Given the description of an element on the screen output the (x, y) to click on. 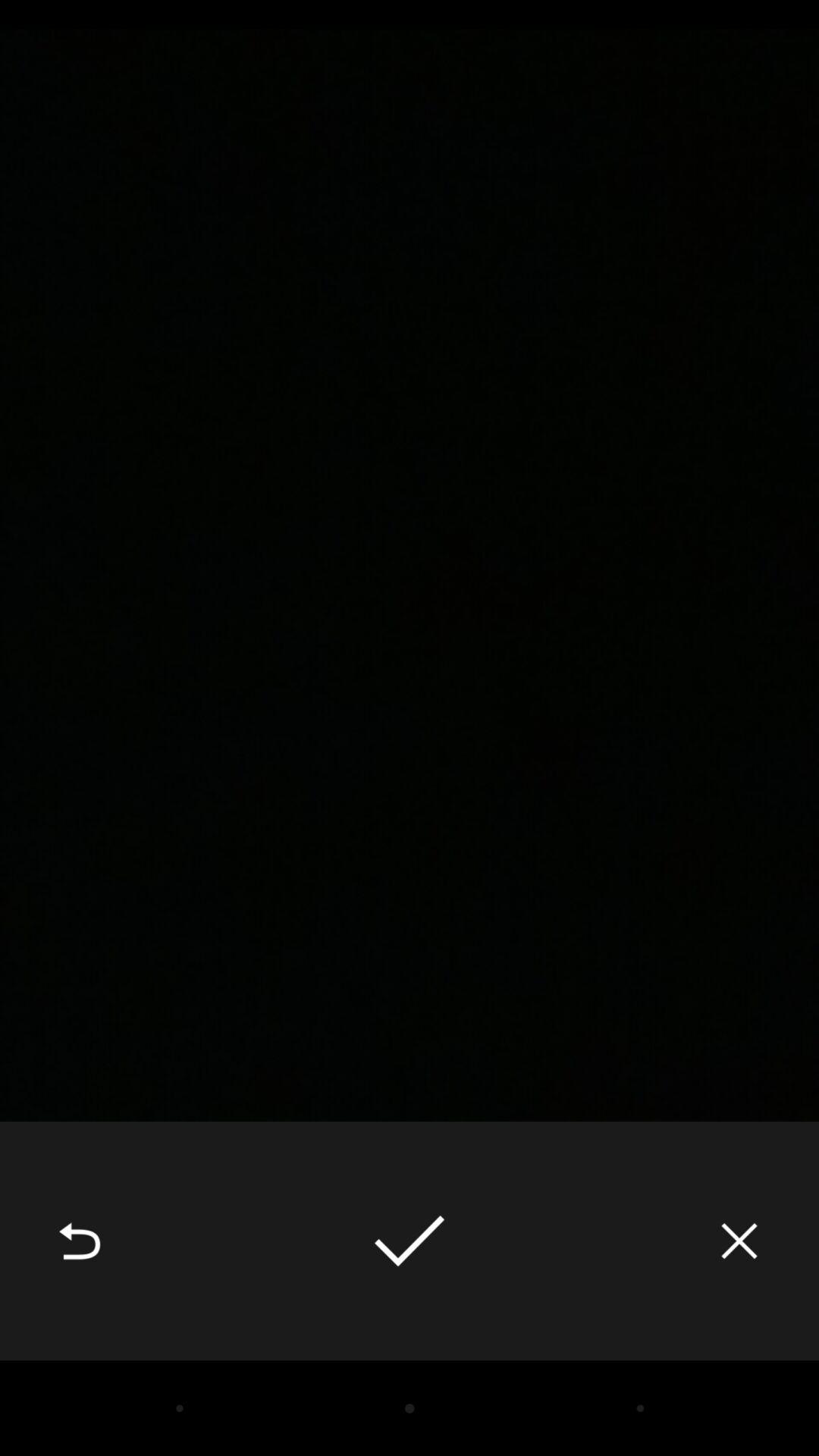
press item at the bottom right corner (739, 1240)
